Given the description of an element on the screen output the (x, y) to click on. 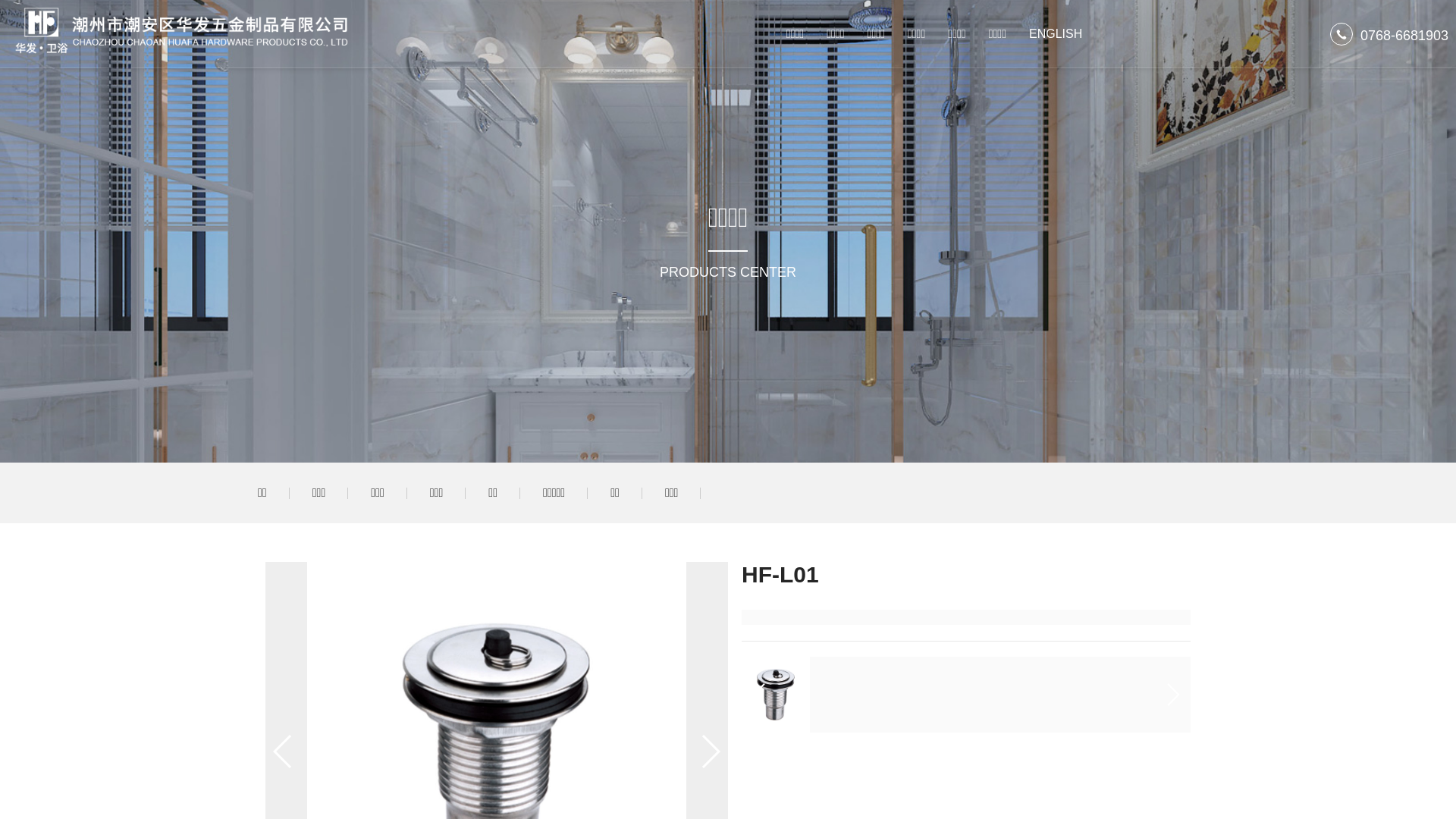
wx Element type: hover (179, 30)
ENGLISH Element type: text (1055, 34)
0768-6681903 Element type: text (1404, 35)
wx Element type: hover (775, 694)
